Given the description of an element on the screen output the (x, y) to click on. 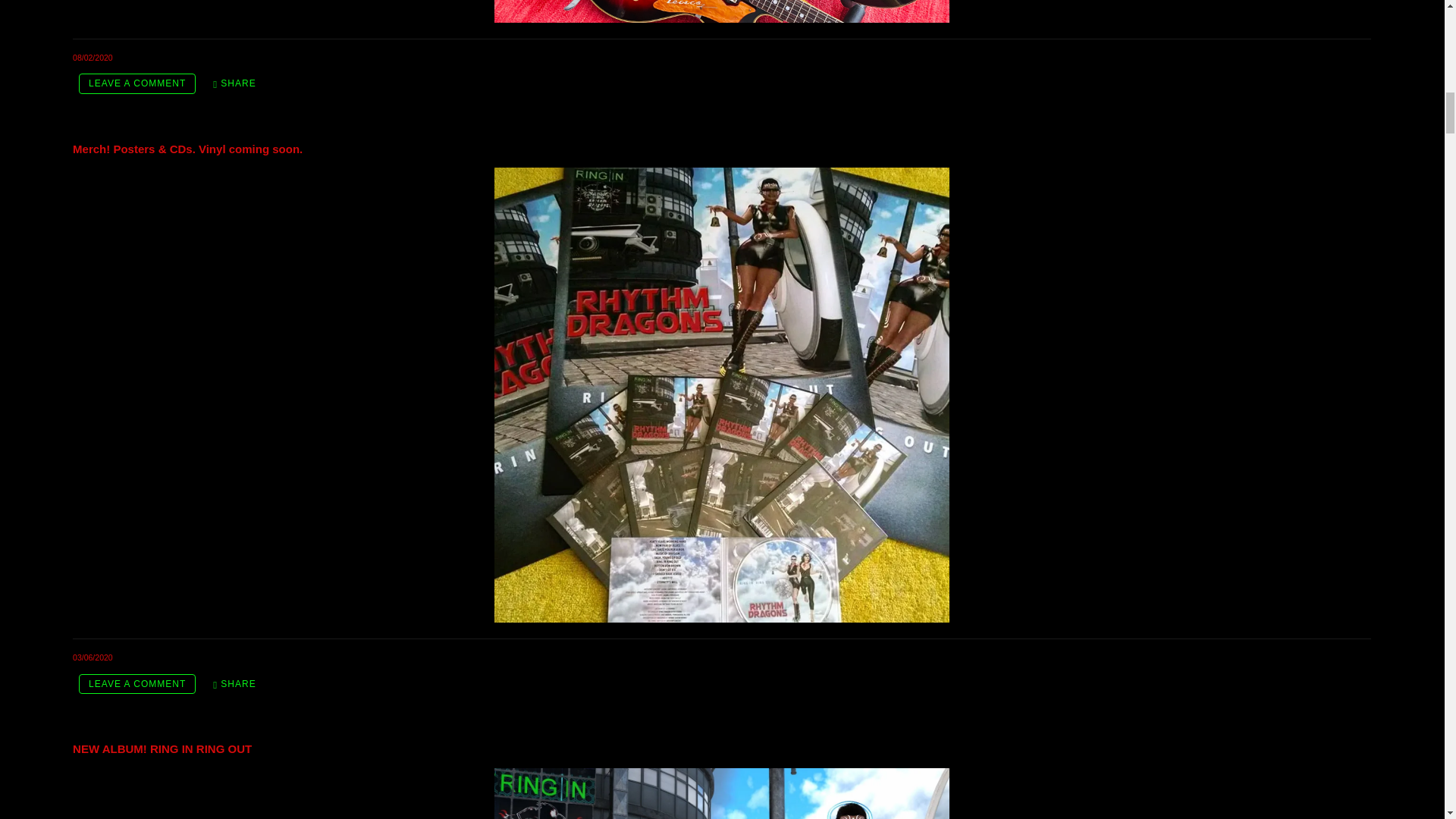
Leave a comment (136, 684)
SHARE (233, 83)
LEAVE A COMMENT (136, 684)
SHARE (233, 683)
Share Have guitar will travel...at least you could have. (233, 83)
Leave a comment (136, 83)
August 02, 2020 13:30 (92, 57)
NEW ALBUM! RING IN RING OUT (161, 748)
LEAVE A COMMENT (136, 83)
RING IN RING OUT (721, 793)
March 06, 2020 11:32 (92, 656)
